Given the description of an element on the screen output the (x, y) to click on. 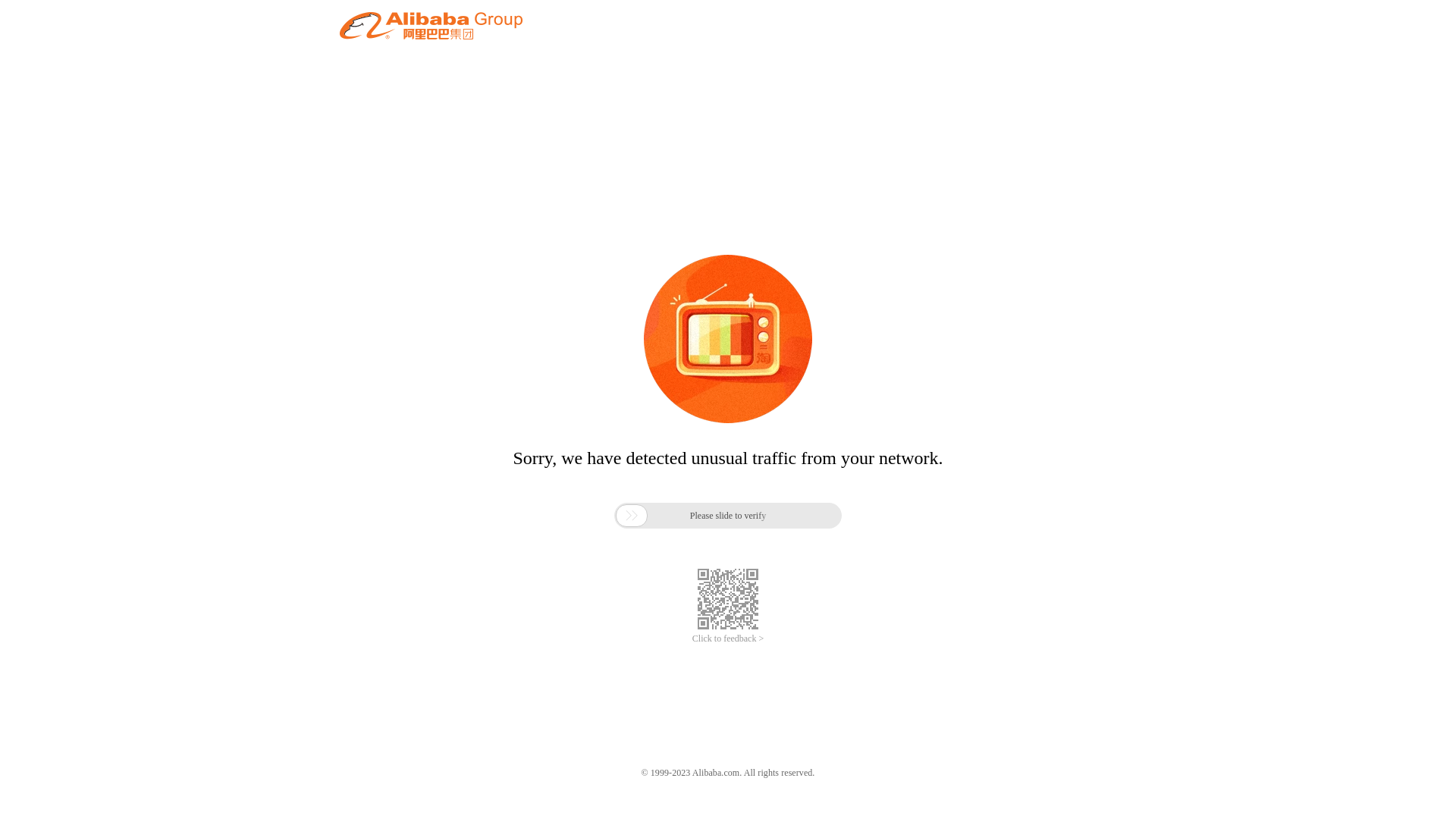
Click to feedback > Element type: text (727, 638)
